Given the description of an element on the screen output the (x, y) to click on. 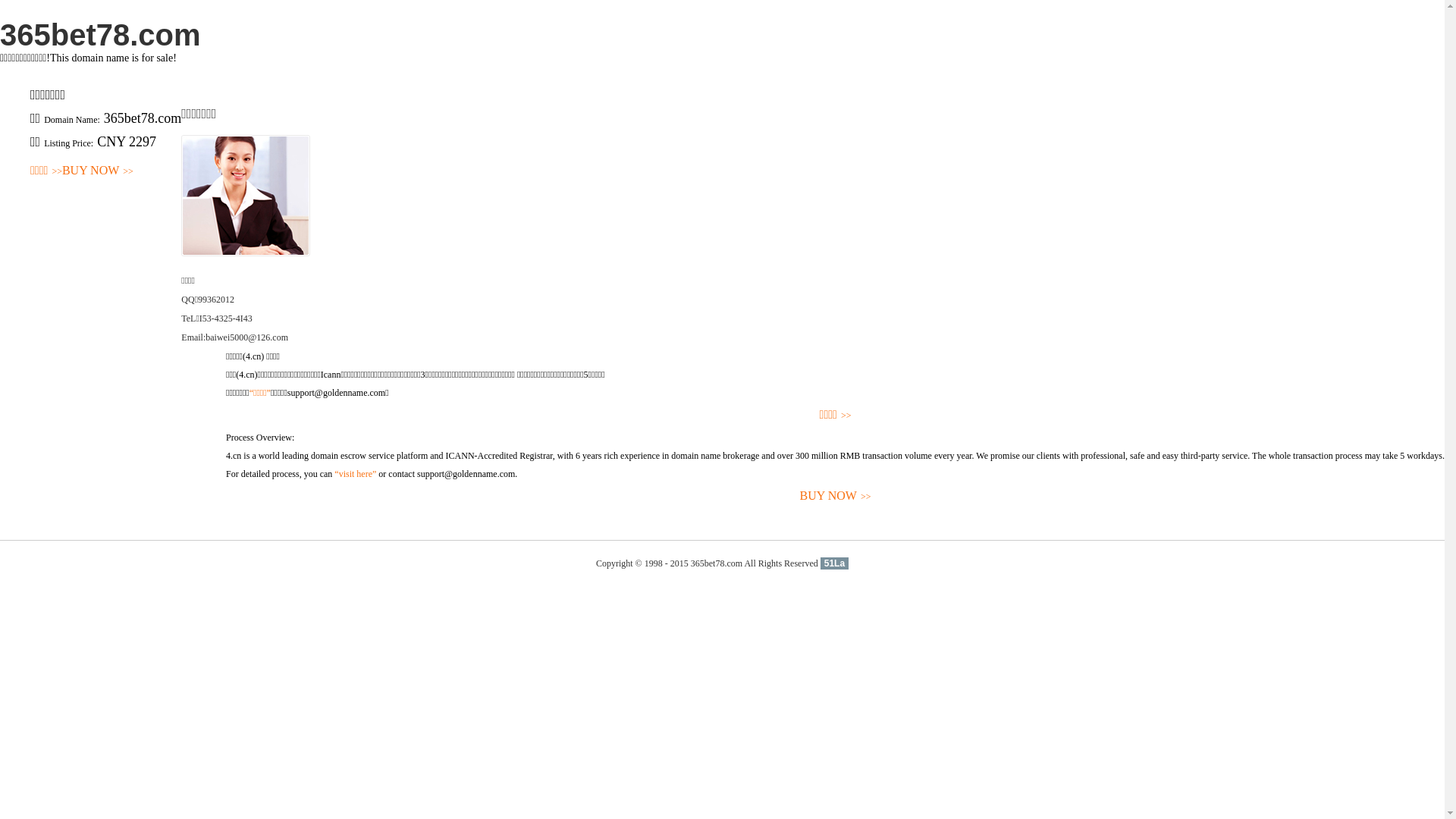
BUY NOW>> Element type: text (834, 496)
51La Element type: text (834, 563)
BUY NOW>> Element type: text (97, 170)
